Given the description of an element on the screen output the (x, y) to click on. 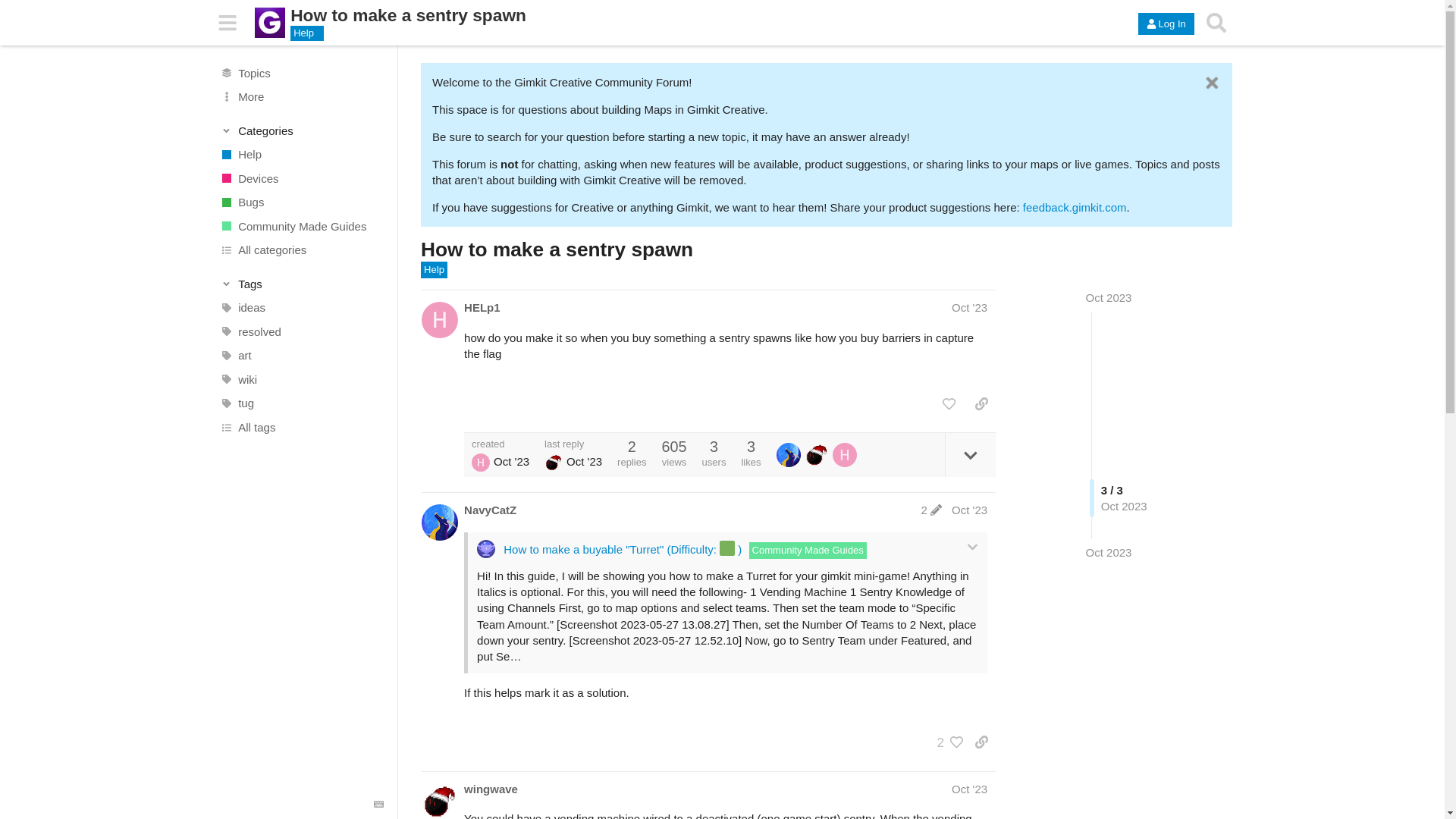
Toggle section (301, 283)
Oct '23 (969, 307)
Oct 7, 2023 8:20 am (1109, 552)
How to make a sentry spawn (556, 249)
feedback.gimkit.com (1074, 206)
Tags (301, 283)
Help (433, 269)
Toggle section (301, 130)
All topics (301, 72)
Community Made Guides (301, 225)
